Given the description of an element on the screen output the (x, y) to click on. 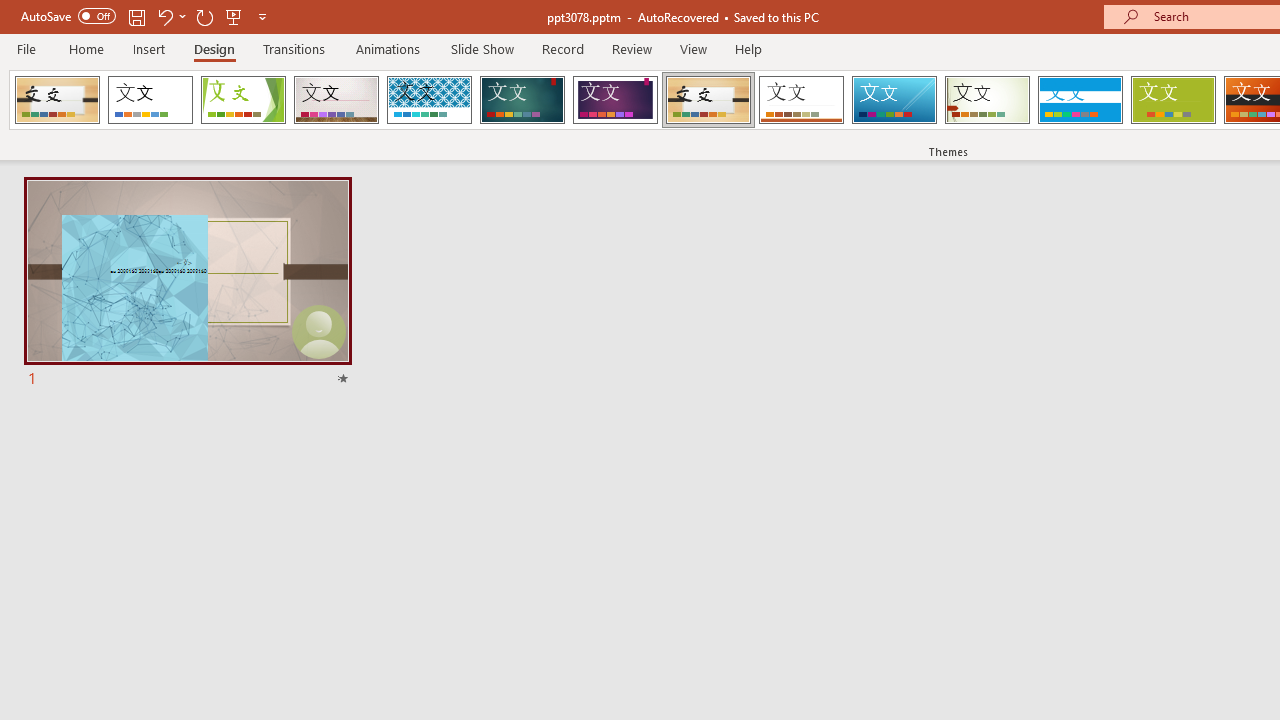
Banded (1080, 100)
Office Theme (150, 100)
Integral (429, 100)
Wisp (987, 100)
Ion (522, 100)
